Given the description of an element on the screen output the (x, y) to click on. 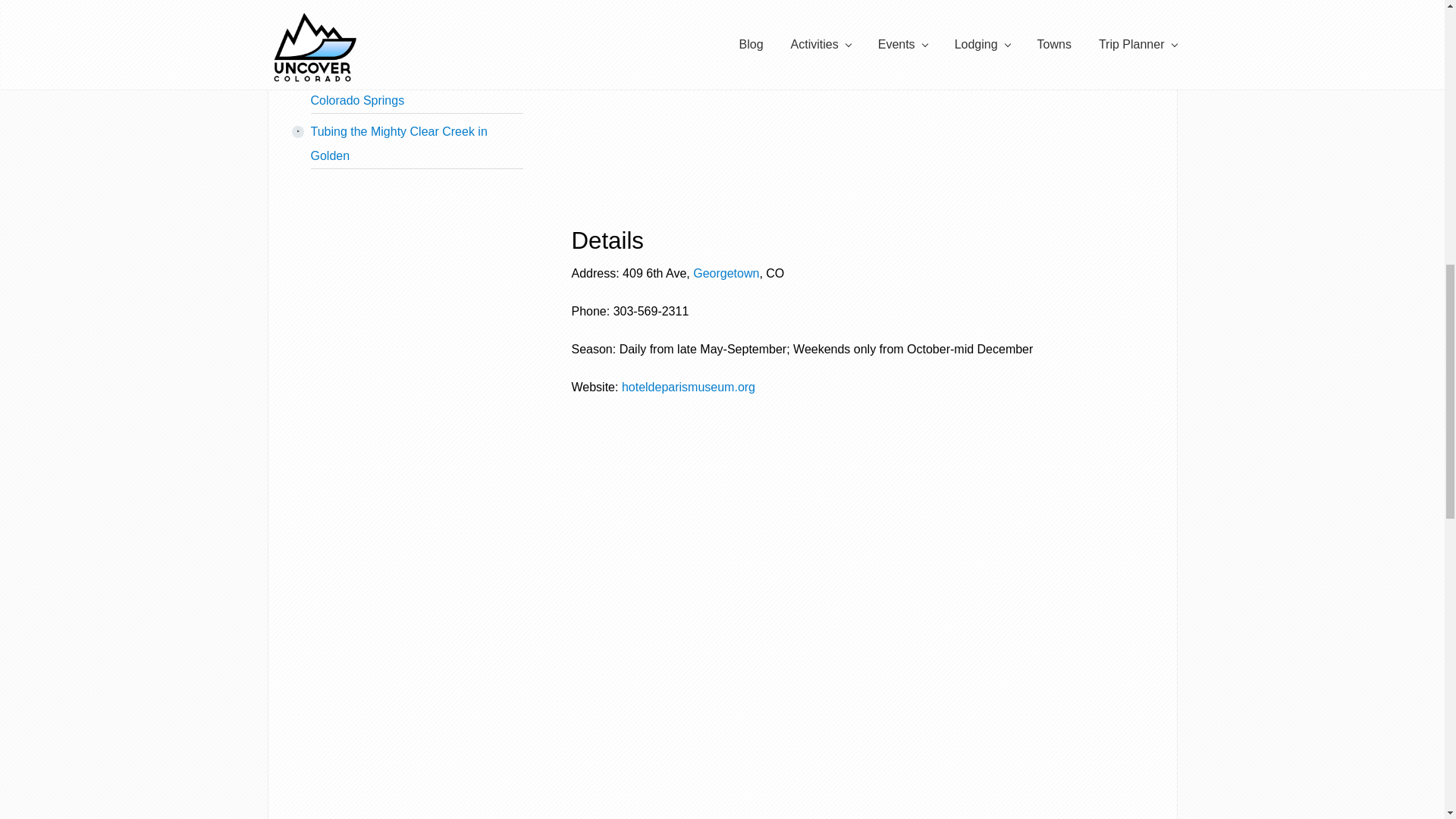
Hotel De Paris (688, 386)
Georgetown Colorado (725, 273)
